Given the description of an element on the screen output the (x, y) to click on. 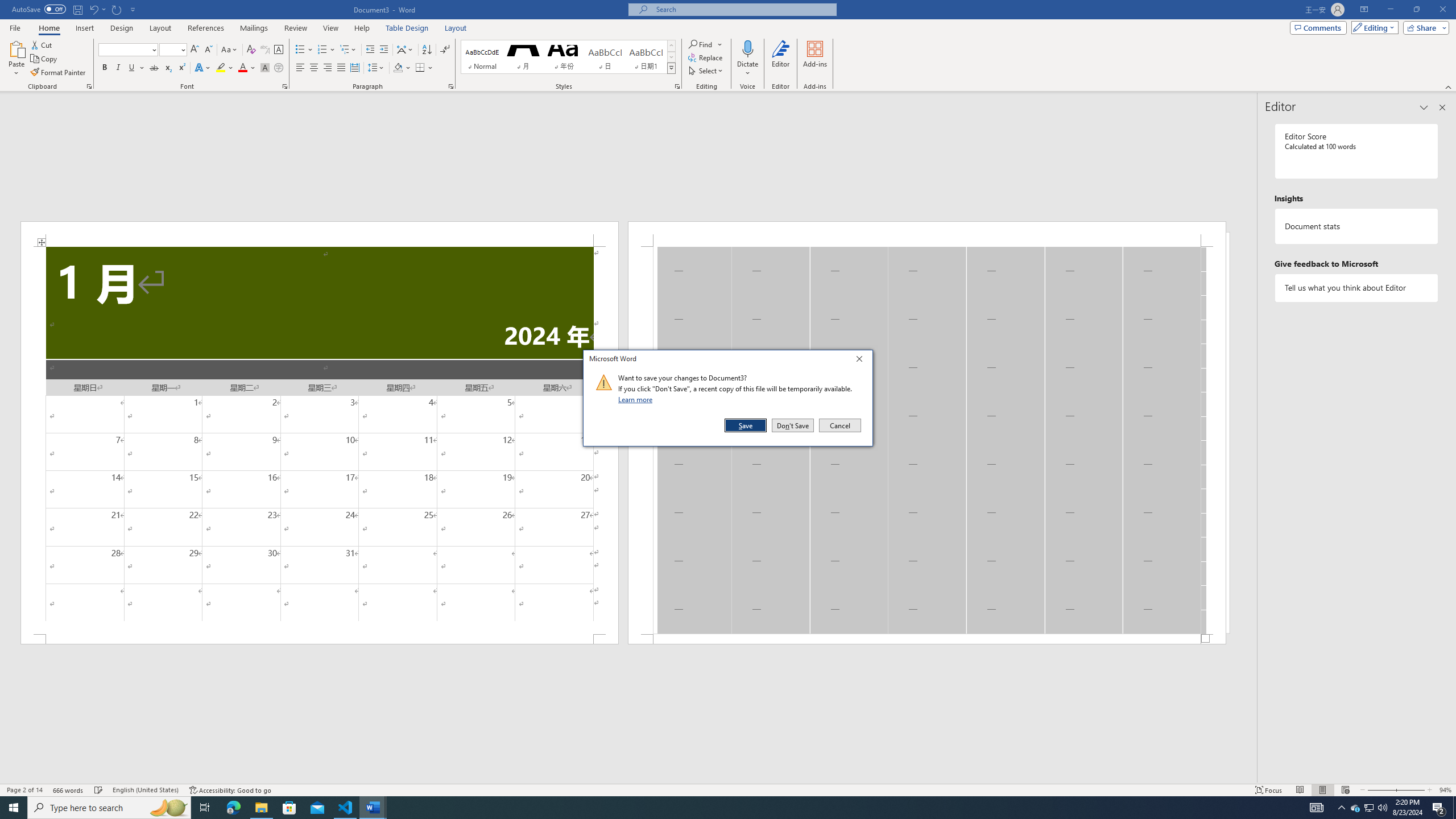
Word - 2 running windows (373, 807)
